Given the description of an element on the screen output the (x, y) to click on. 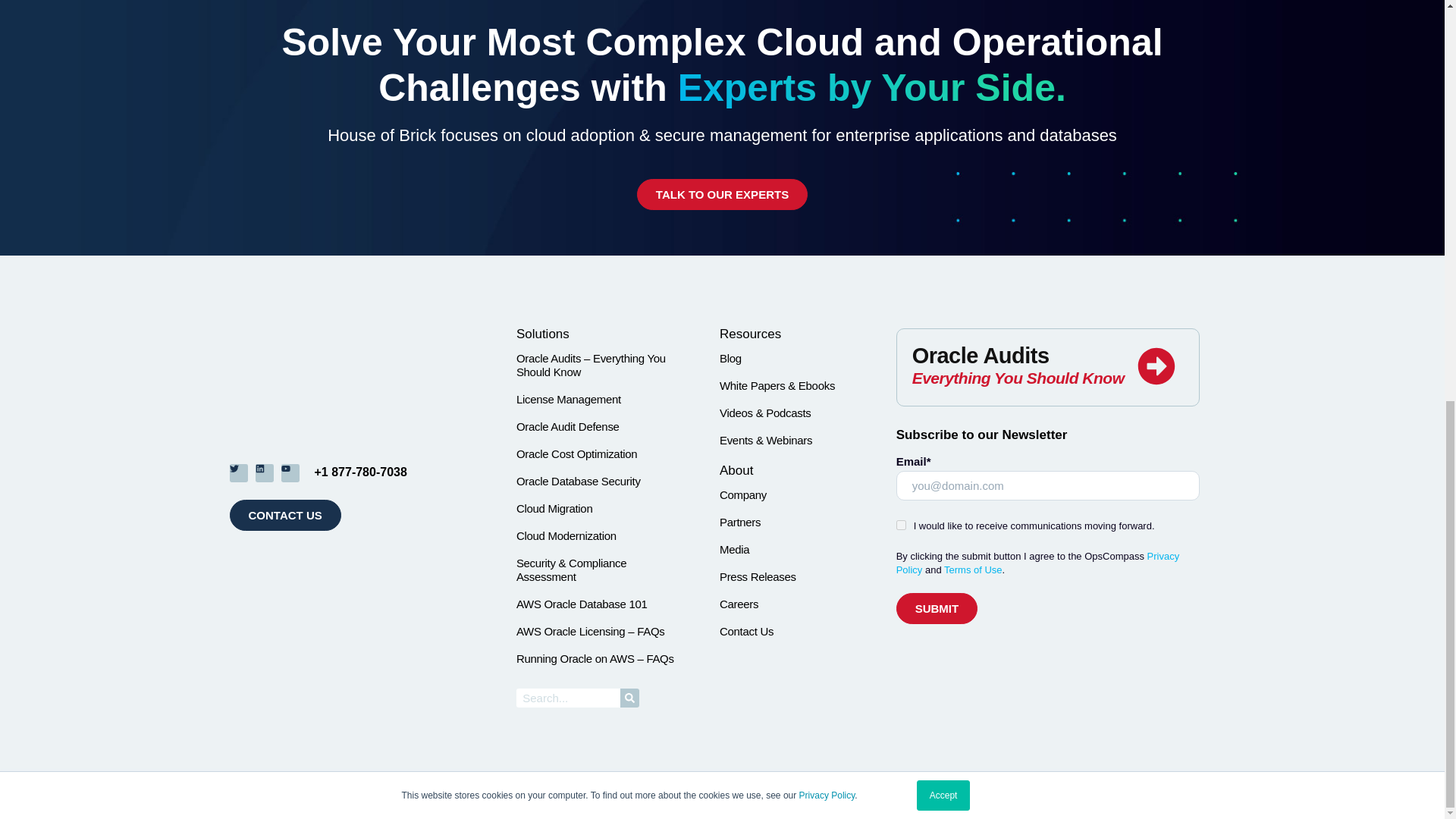
Privacy Policy (827, 9)
Accept (944, 12)
SUBMIT (937, 608)
